Given the description of an element on the screen output the (x, y) to click on. 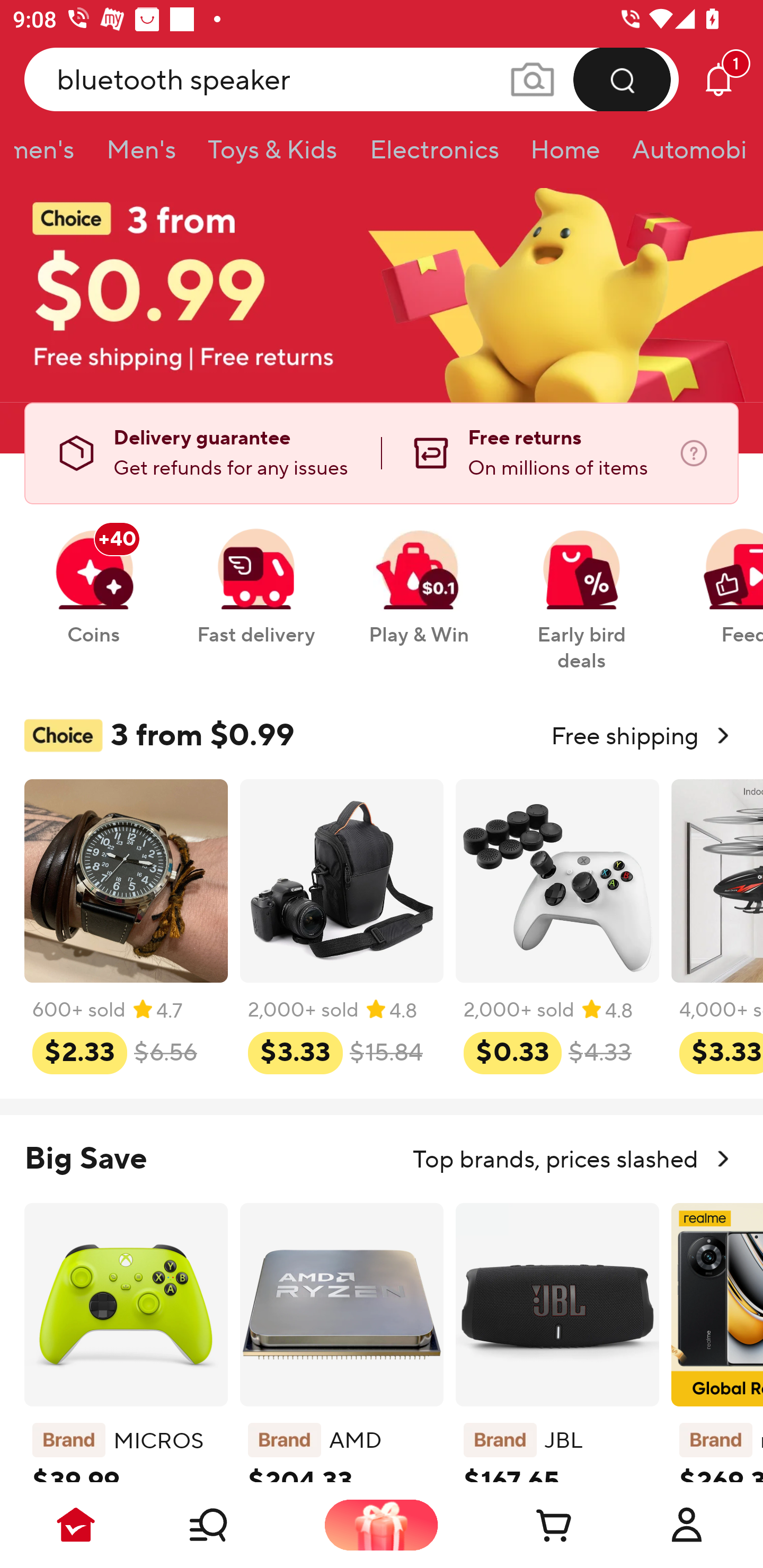
bluetooth speaker (351, 79)
Women's (52, 155)
Men's (140, 155)
Toys & Kids (272, 155)
Electronics (433, 155)
Home (565, 155)
Automobile (681, 155)
Coinsbutton +40 Coins (93, 576)
Fast deliverybutton Fast delivery (255, 576)
Play & Winbutton Play & Win (418, 576)
Early bird dealsbutton Early bird deals (581, 589)
Feedbutton Feed (719, 576)
Shop (228, 1524)
Cart (533, 1524)
Account (686, 1524)
